Given the description of an element on the screen output the (x, y) to click on. 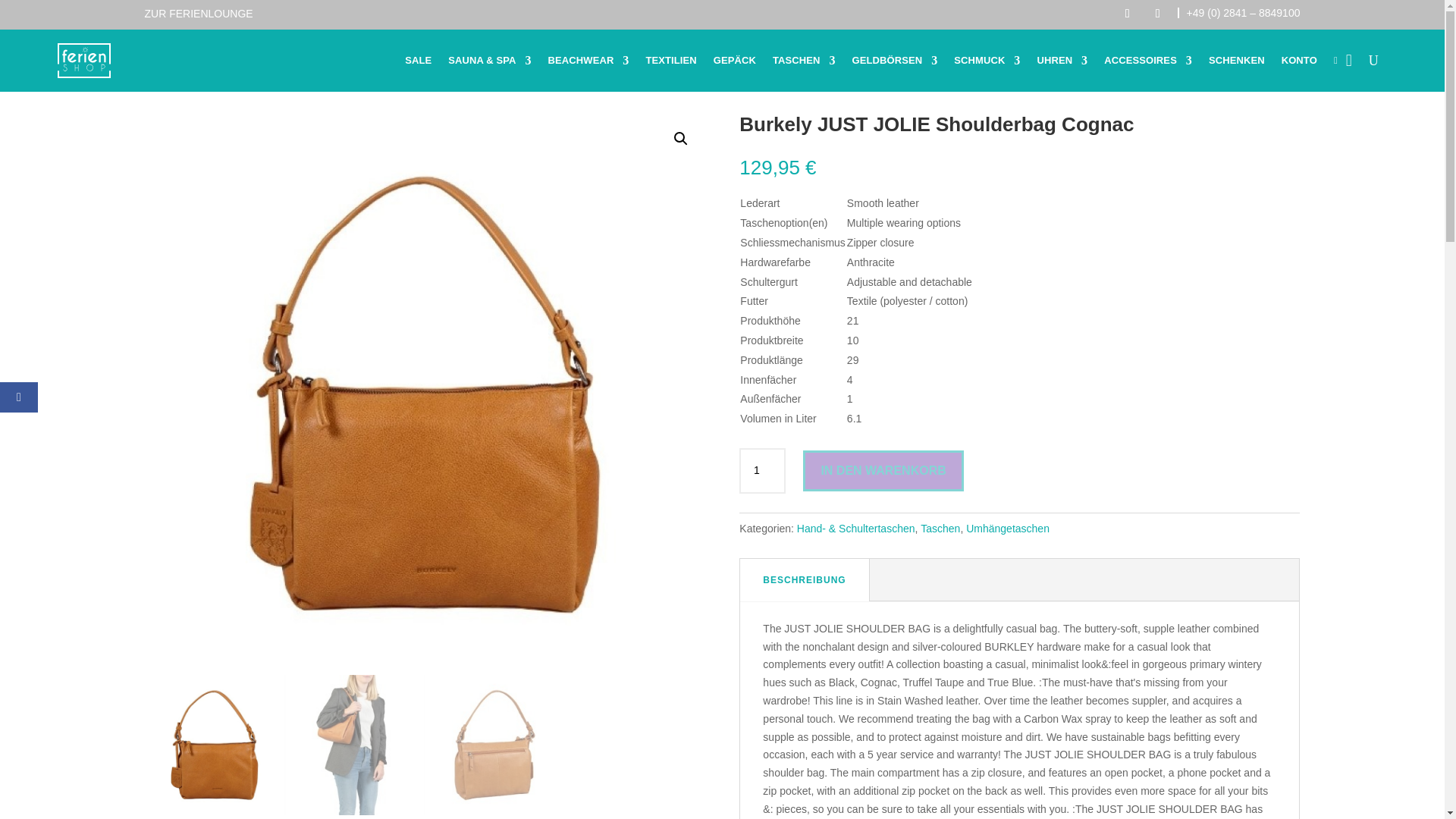
SCHENKEN (1236, 60)
ACCESSOIRES (1147, 60)
Folge auf Instagram (1157, 13)
BEACHWEAR (588, 60)
SCHMUCK (986, 60)
ZUR FERIENLOUNGE (197, 13)
Zur Ferienlounge (197, 13)
TASCHEN (804, 60)
Folge auf Facebook (1127, 13)
1 (761, 470)
